Given the description of an element on the screen output the (x, y) to click on. 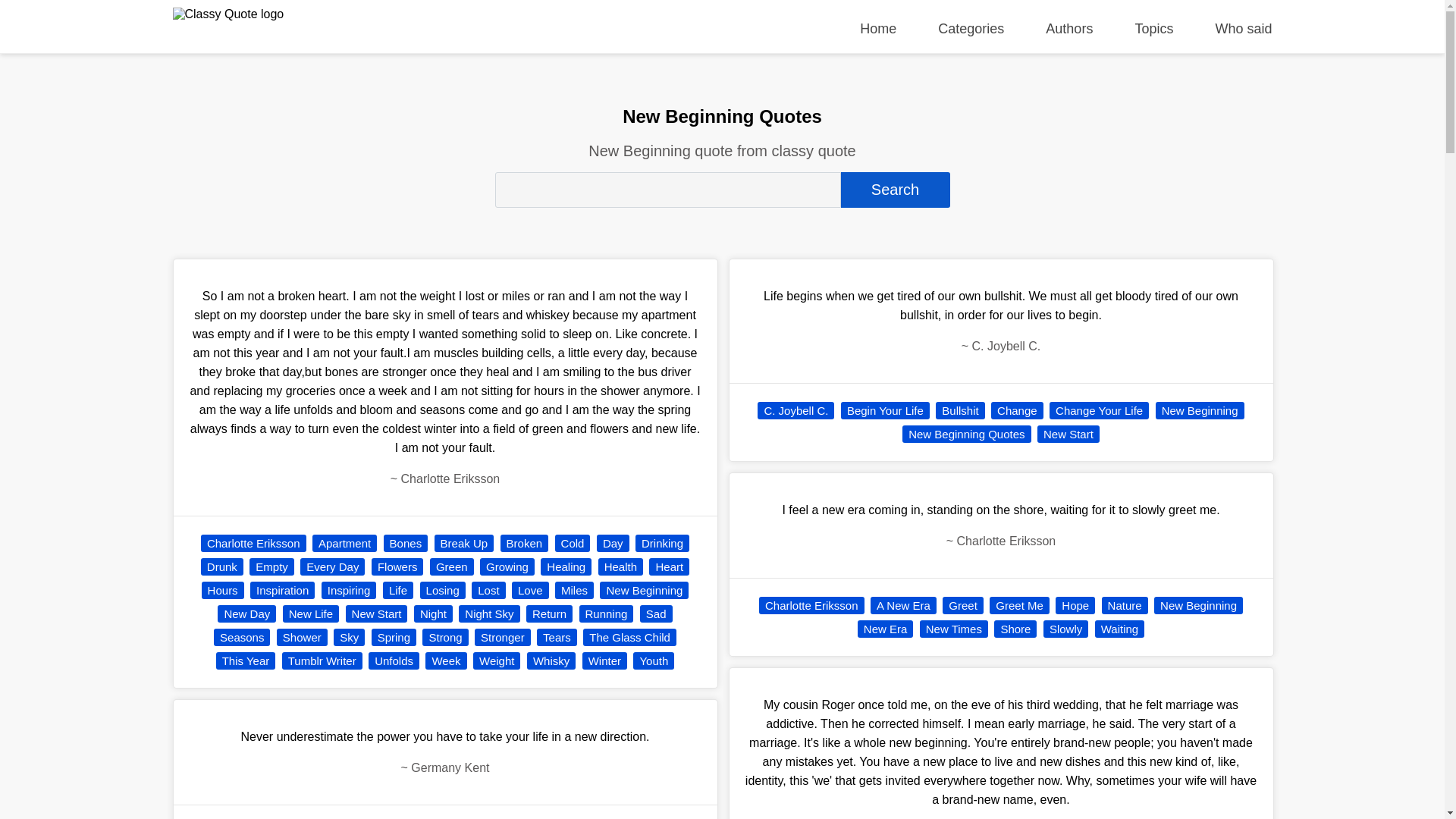
Running (606, 613)
New Life (310, 613)
New Day (246, 613)
Drinking (661, 543)
Drunk (221, 566)
Heart (668, 566)
Empty (271, 566)
Night Sky (488, 613)
Inspiring (349, 589)
Topics (1153, 28)
Night (432, 613)
Home (878, 28)
Love (530, 589)
Broken (524, 543)
Lost (488, 589)
